Given the description of an element on the screen output the (x, y) to click on. 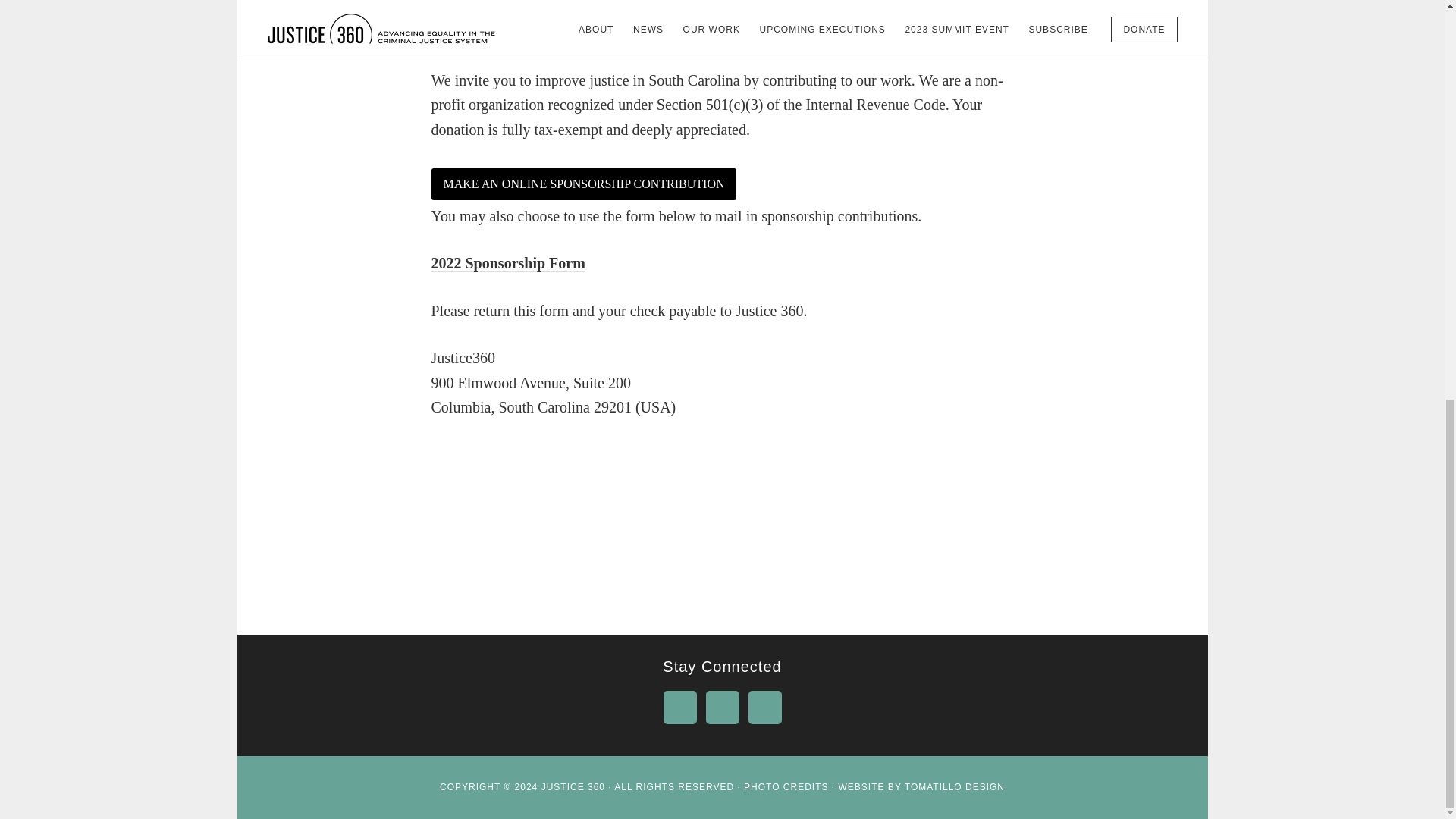
2022 Sponsorship Form (507, 262)
JUSTICE 360 (573, 787)
TOMATILLO DESIGN (954, 787)
MAKE AN ONLINE SPONSORSHIP CONTRIBUTION (583, 183)
PHOTO CREDITS (786, 787)
Visit Site (583, 183)
Beautiful, Affordable Websites for Nonprofits (954, 787)
